Given the description of an element on the screen output the (x, y) to click on. 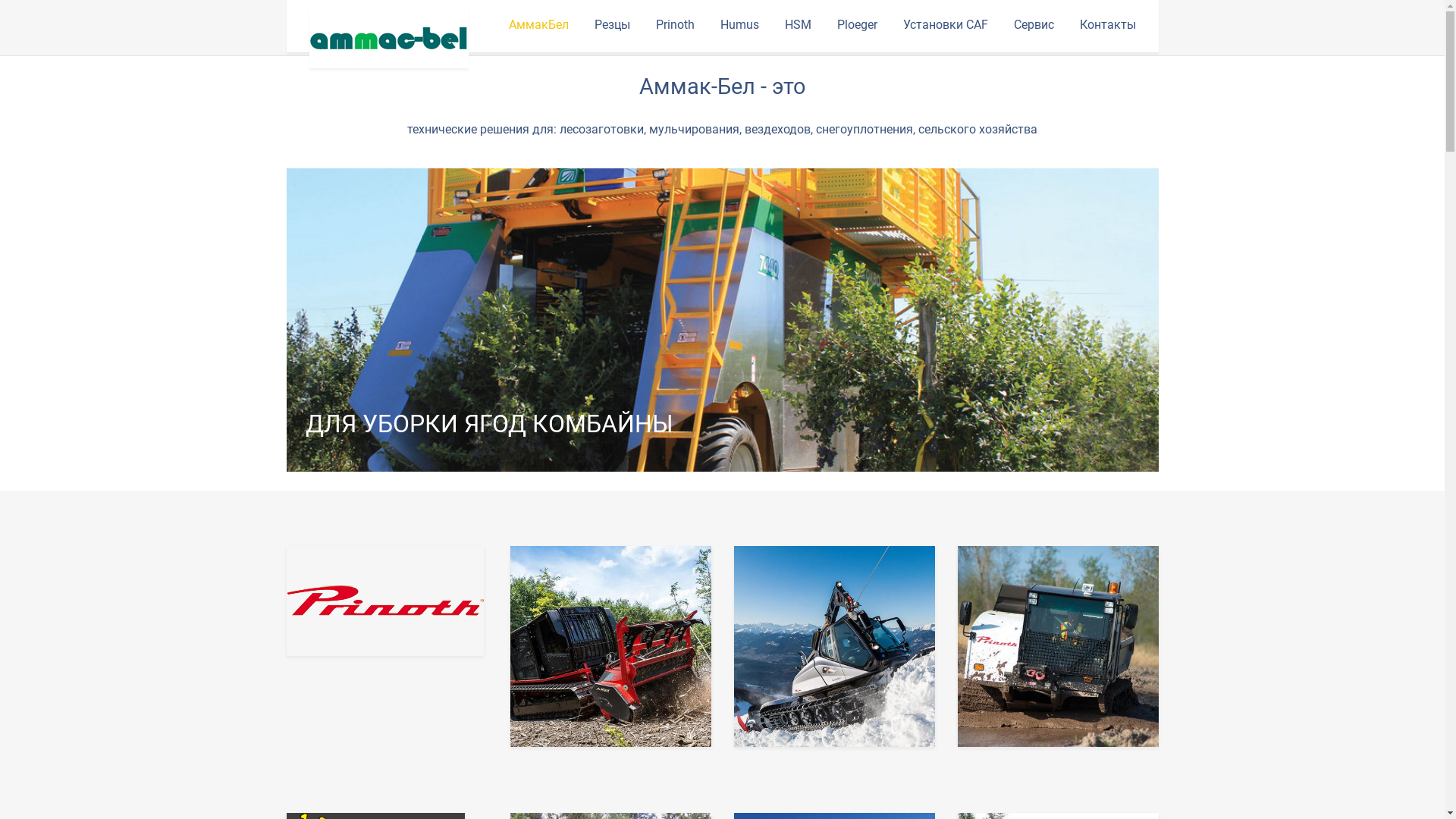
HSM Element type: text (797, 26)
Humus Element type: text (739, 26)
Startup Element type: hover (388, 37)
Ploeger Element type: text (856, 26)
Prinoth Element type: text (675, 26)
